Given the description of an element on the screen output the (x, y) to click on. 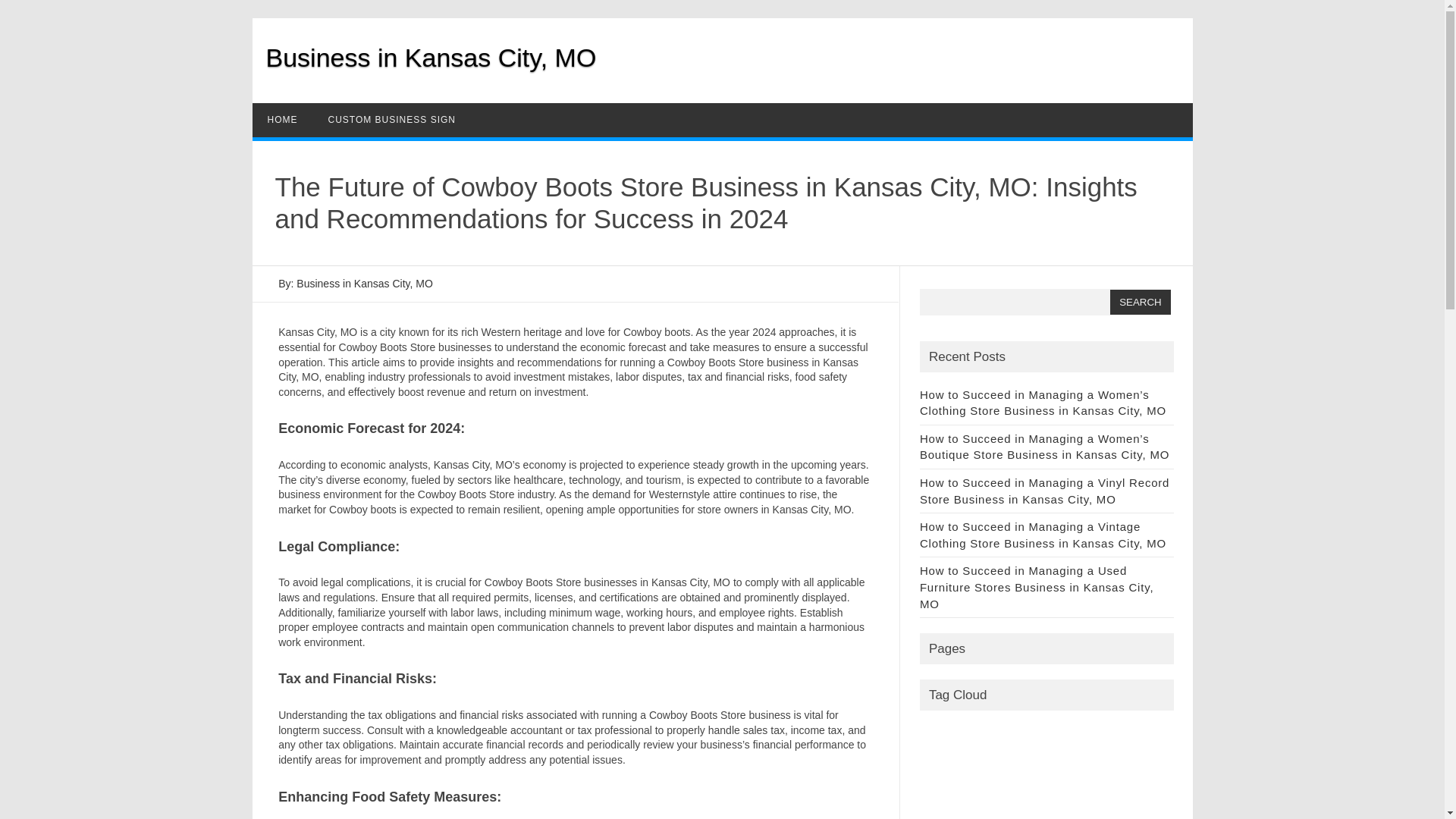
Search (1139, 301)
Business in Kansas City, MO (429, 57)
Search (1139, 301)
HOME (282, 119)
CUSTOM BUSINESS SIGN (391, 119)
Business in Kansas City, MO (429, 57)
